Given the description of an element on the screen output the (x, y) to click on. 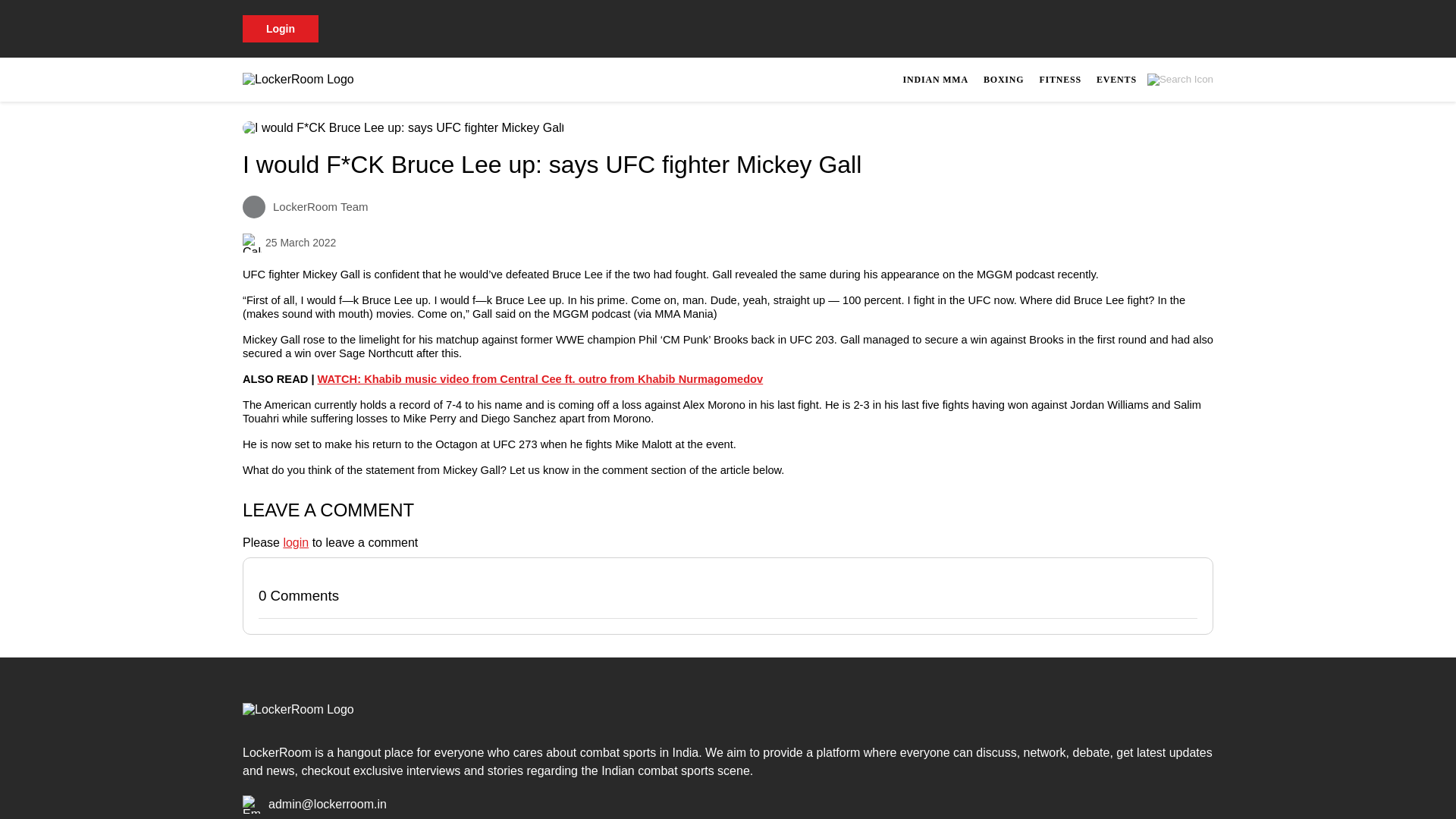
EVENTS (1116, 78)
INDIAN MMA (935, 78)
BOXING (1002, 78)
FITNESS (1059, 78)
